Given the description of an element on the screen output the (x, y) to click on. 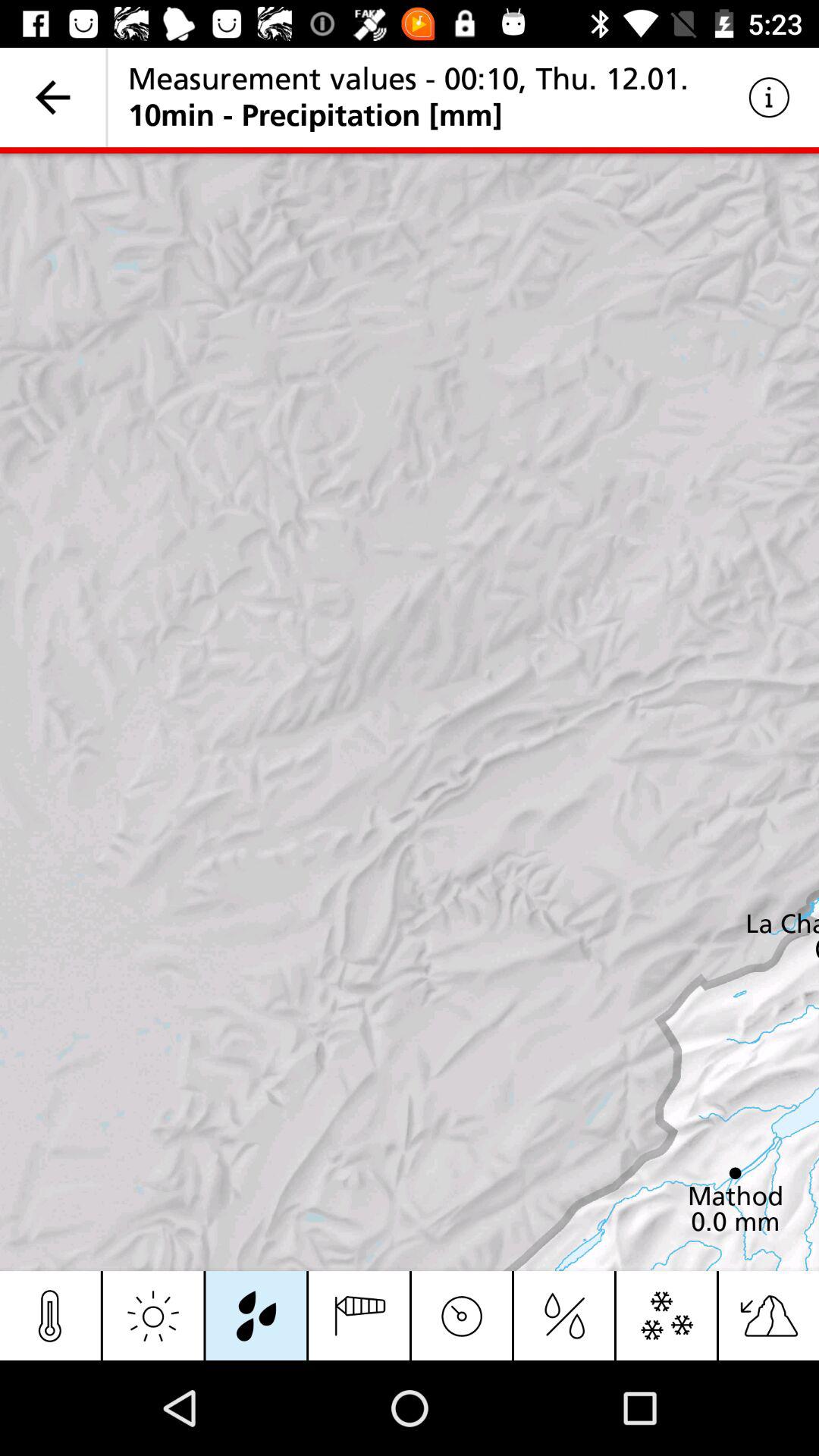
click icon to the right of measurement values 00 item (769, 97)
